Given the description of an element on the screen output the (x, y) to click on. 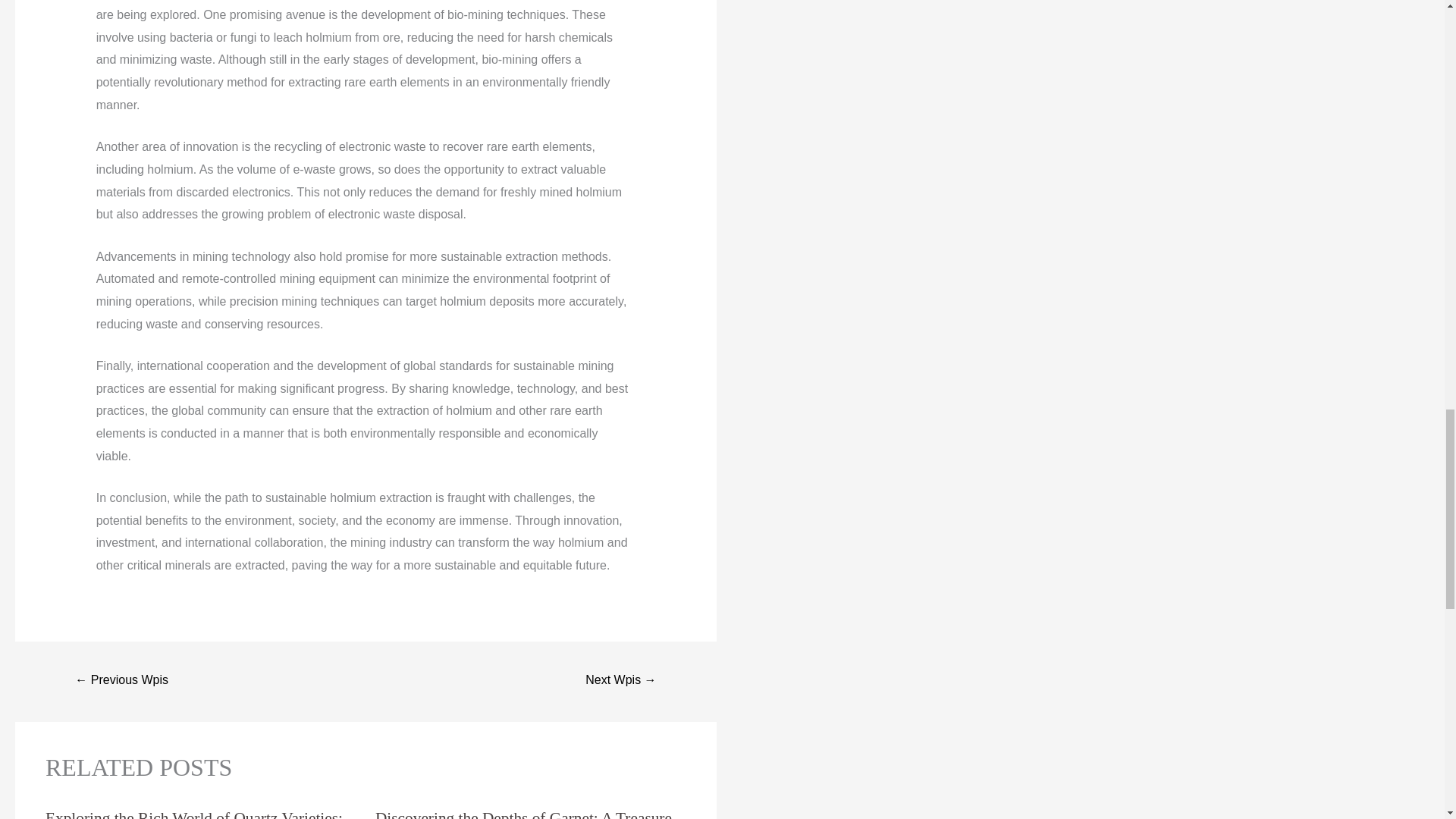
Holmium in Everyday Life: From Smartphones to Satellites (121, 681)
The Role of Holmium in Advanced Manufacturing Processes (620, 681)
